Given the description of an element on the screen output the (x, y) to click on. 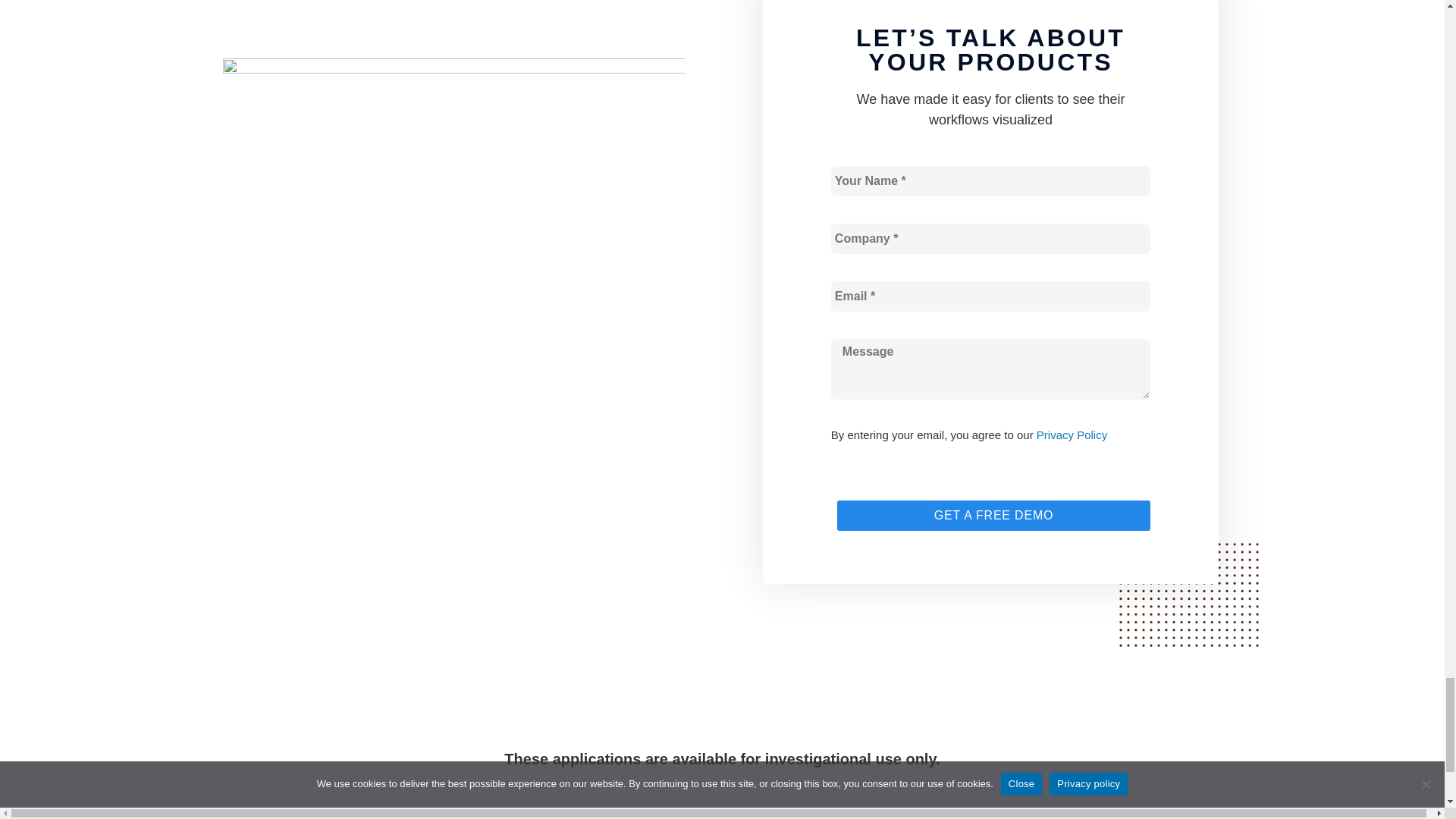
Privacy Policy (1071, 435)
GET A FREE DEMO (993, 515)
